Given the description of an element on the screen output the (x, y) to click on. 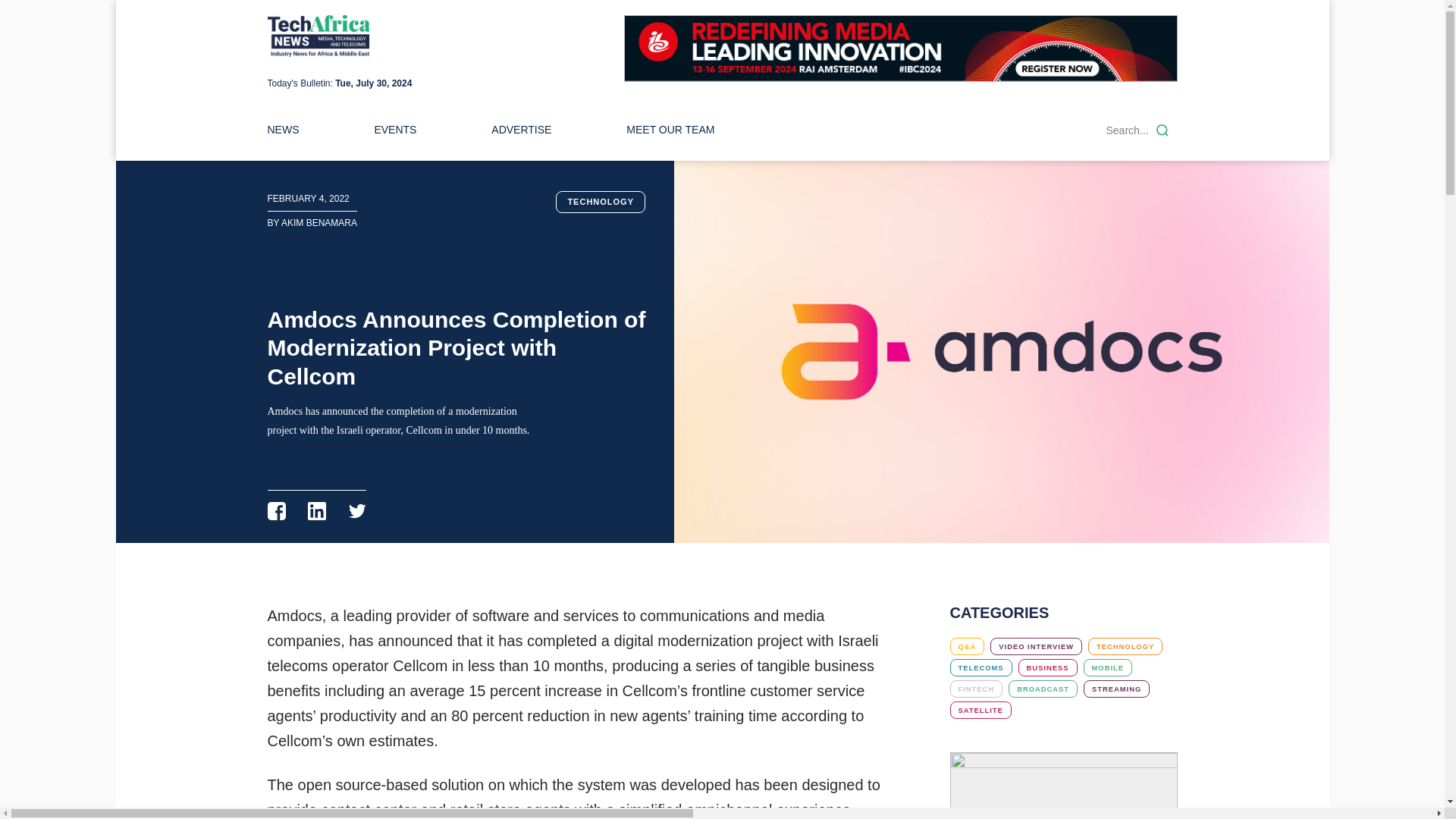
MEET OUR TEAM (670, 129)
Search (1162, 130)
ADVERTISE (521, 129)
MOBILE (1107, 667)
VIDEO INTERVIEW (1035, 646)
STREAMING (1116, 688)
SATELLITE (979, 710)
TELECOMS (980, 667)
Search (1162, 130)
TECHNOLOGY (1124, 646)
BROADCAST (1043, 688)
MEET OUR TEAM (670, 129)
ADVERTISE (521, 129)
FINTECH (976, 688)
BUSINESS (1047, 667)
